Given the description of an element on the screen output the (x, y) to click on. 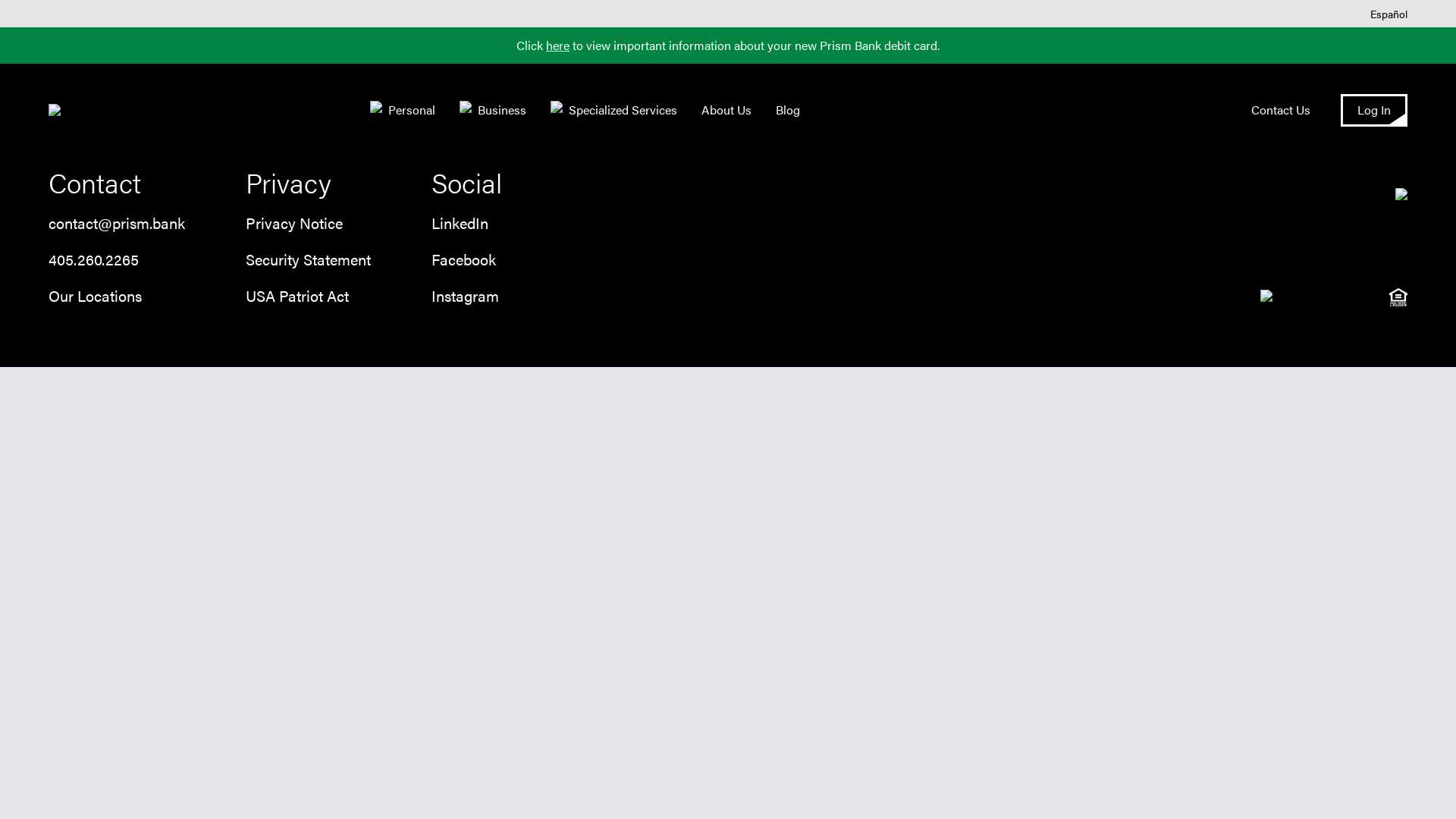
About Us Element type: text (726, 109)
contact@prism.bank Element type: text (116, 222)
USA Patriot Act Element type: text (296, 295)
Blog Element type: text (787, 109)
405.260.2265 Element type: text (93, 258)
Security Statement Element type: text (307, 258)
Log In Element type: text (1373, 110)
here Element type: text (557, 44)
Our Locations Element type: text (94, 295)
Privacy Notice Element type: text (293, 222)
Personal Element type: text (402, 109)
LinkedIn Element type: text (459, 222)
Contact Us Element type: text (1280, 109)
Facebook Element type: text (463, 258)
Specialized Services Element type: text (613, 109)
Business Element type: text (492, 109)
Instagram Element type: text (464, 295)
